Given the description of an element on the screen output the (x, y) to click on. 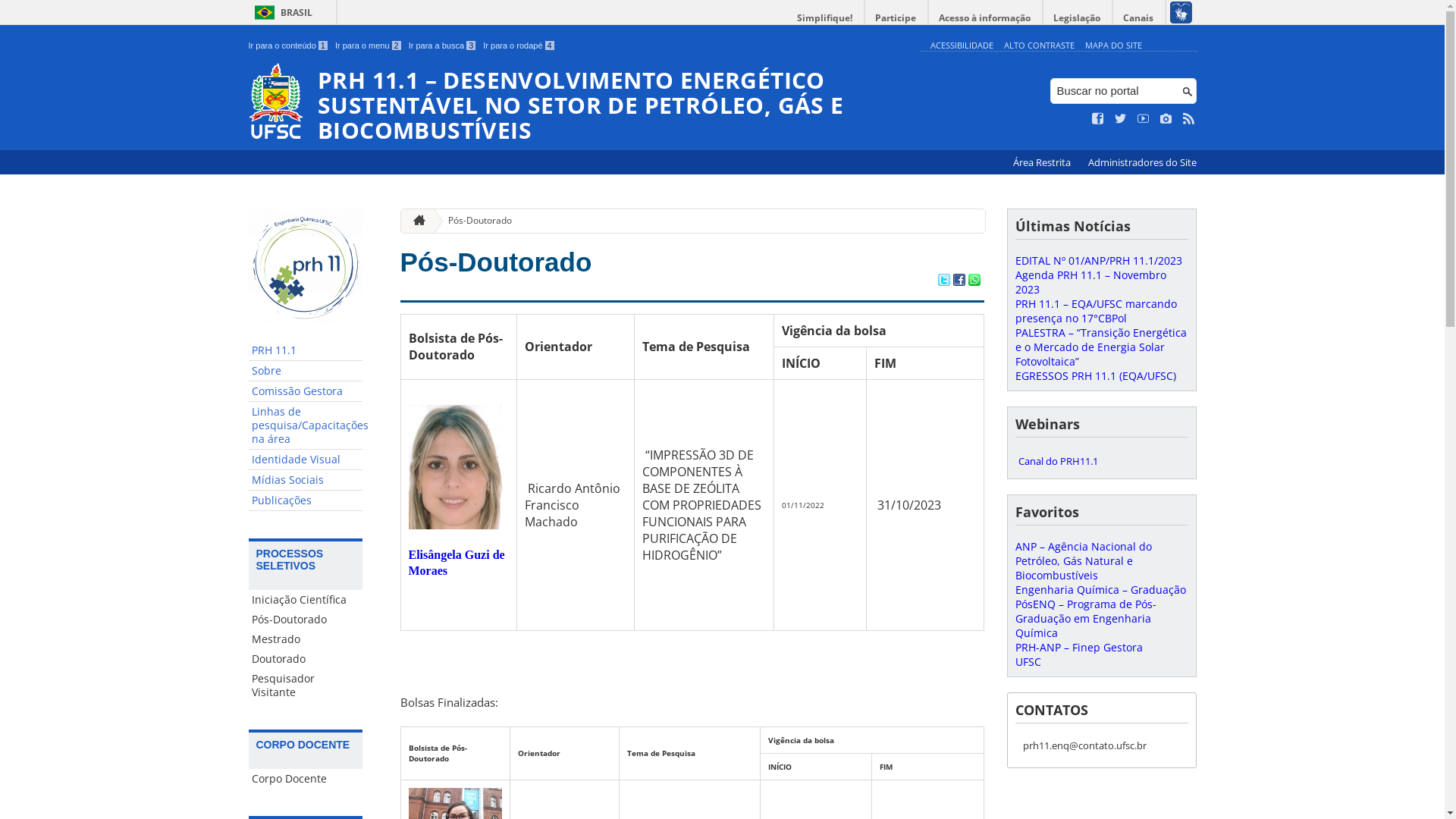
ACESSIBILIDADE Element type: text (960, 44)
Compartilhar no Twitter Element type: hover (943, 280)
Identidade Visual Element type: text (305, 459)
Simplifique! Element type: text (825, 18)
Corpo Docente Element type: text (305, 778)
Canais Element type: text (1138, 18)
Siga no Twitter Element type: hover (1120, 118)
Administradores do Site Element type: text (1141, 162)
Sobre Element type: text (305, 370)
EGRESSOS PRH 11.1 (EQA/UFSC) Element type: text (1094, 375)
Ir para a busca 3 Element type: text (442, 45)
Mestrado Element type: text (305, 639)
Doutorado Element type: text (305, 658)
Ir para o menu 2 Element type: text (368, 45)
BRASIL Element type: text (280, 12)
Compartilhar no WhatsApp Element type: hover (973, 280)
UFSC Element type: text (1027, 661)
PRH 11.1 Element type: text (305, 350)
Participe Element type: text (895, 18)
Compartilhar no Facebook Element type: hover (958, 280)
ALTO CONTRASTE Element type: text (1039, 44)
Pesquisador Visitante Element type: text (305, 685)
Canal do PRH11.1 Element type: text (1100, 460)
Veja no Instagram Element type: hover (1166, 118)
Curta no Facebook Element type: hover (1098, 118)
MAPA DO SITE Element type: text (1112, 44)
